Given the description of an element on the screen output the (x, y) to click on. 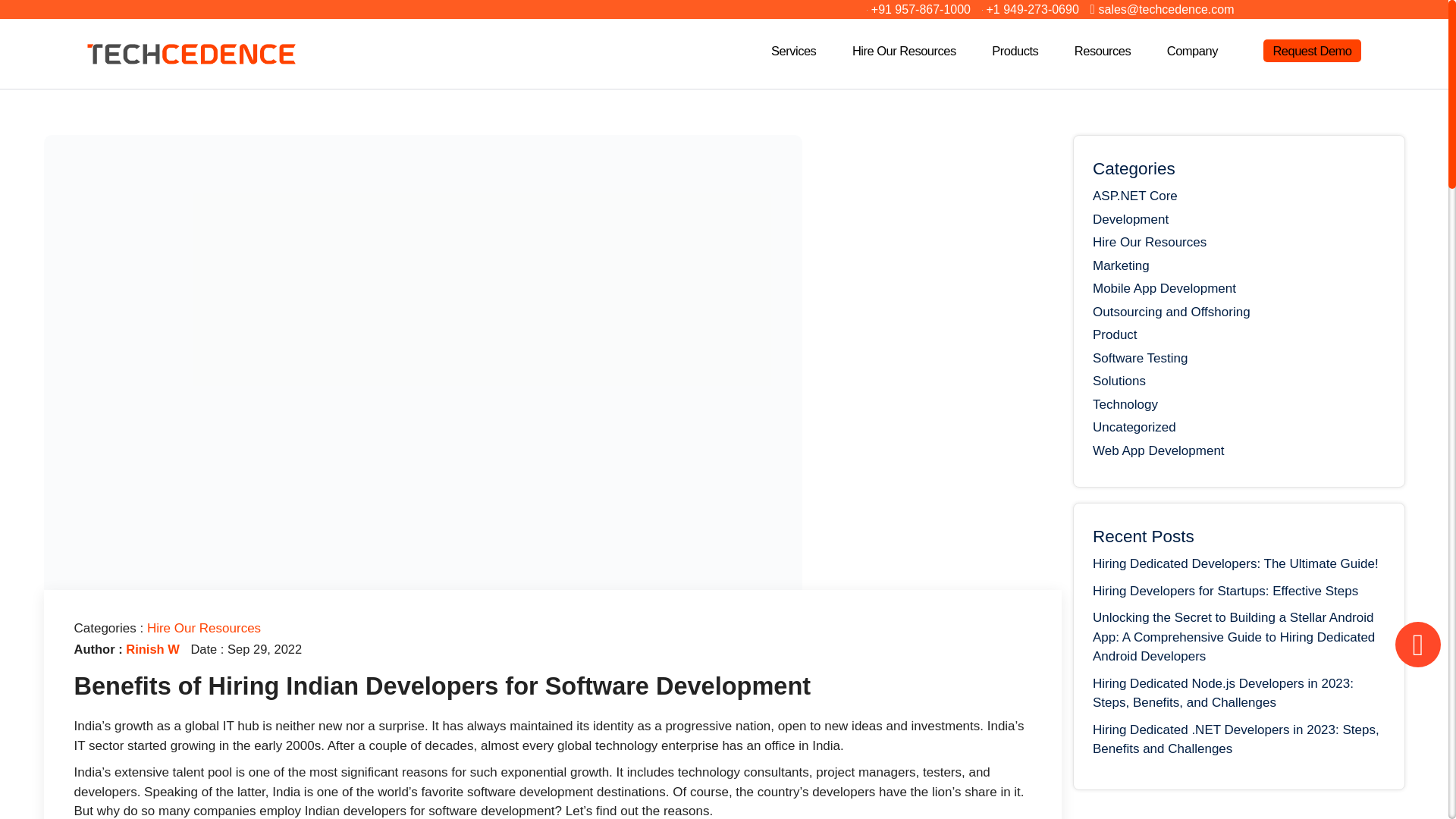
Services (802, 50)
Hire Our Resources (912, 50)
